Given the description of an element on the screen output the (x, y) to click on. 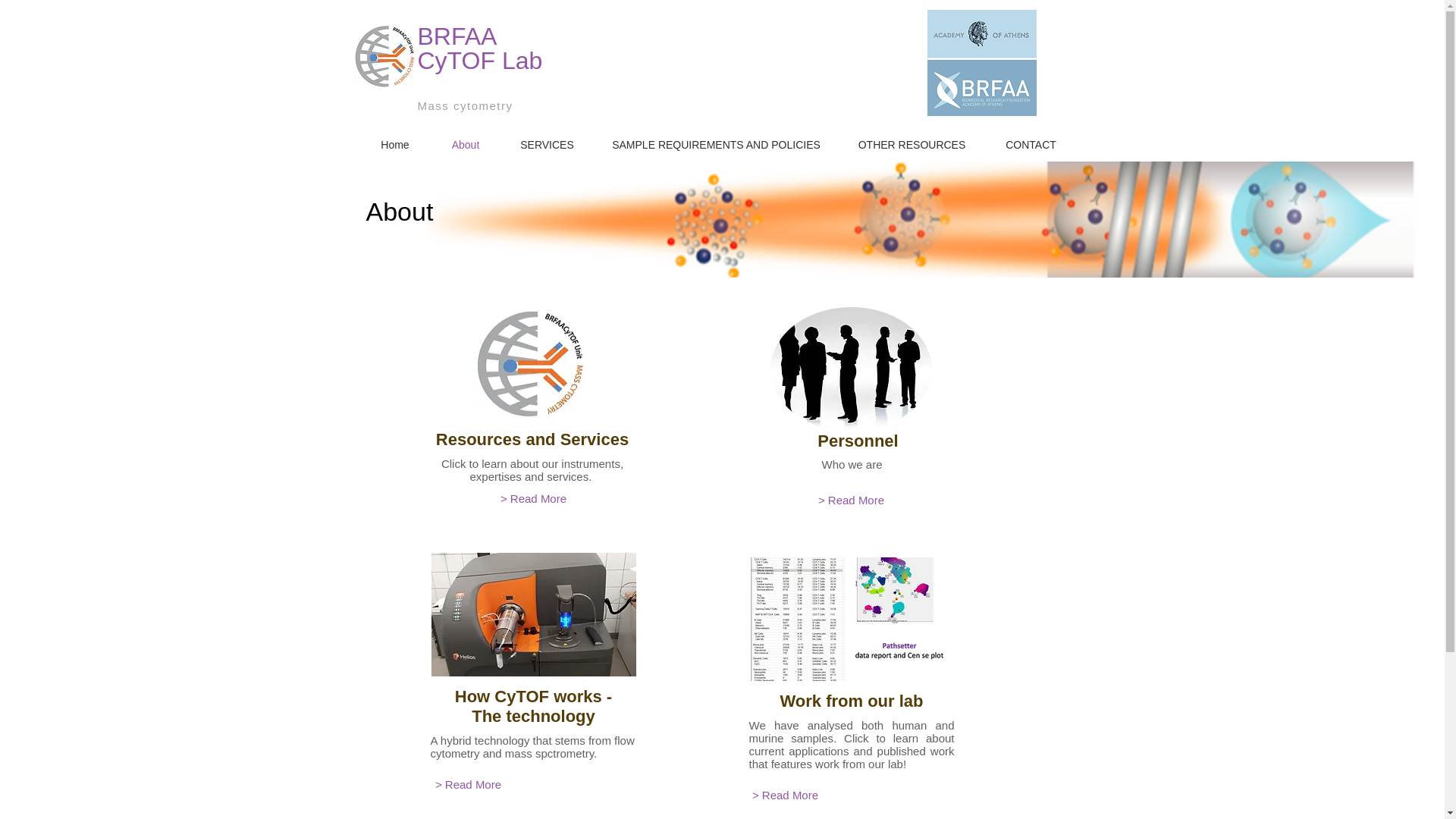
CONTACT (1030, 144)
BRFAA CyTOF Lab (478, 48)
SERVICES (546, 144)
SAMPLE REQUIREMENTS AND POLICIES (715, 144)
OTHER RESOURCES (911, 144)
Mass cytometry  (466, 105)
About (465, 144)
Home (394, 144)
